Given the description of an element on the screen output the (x, y) to click on. 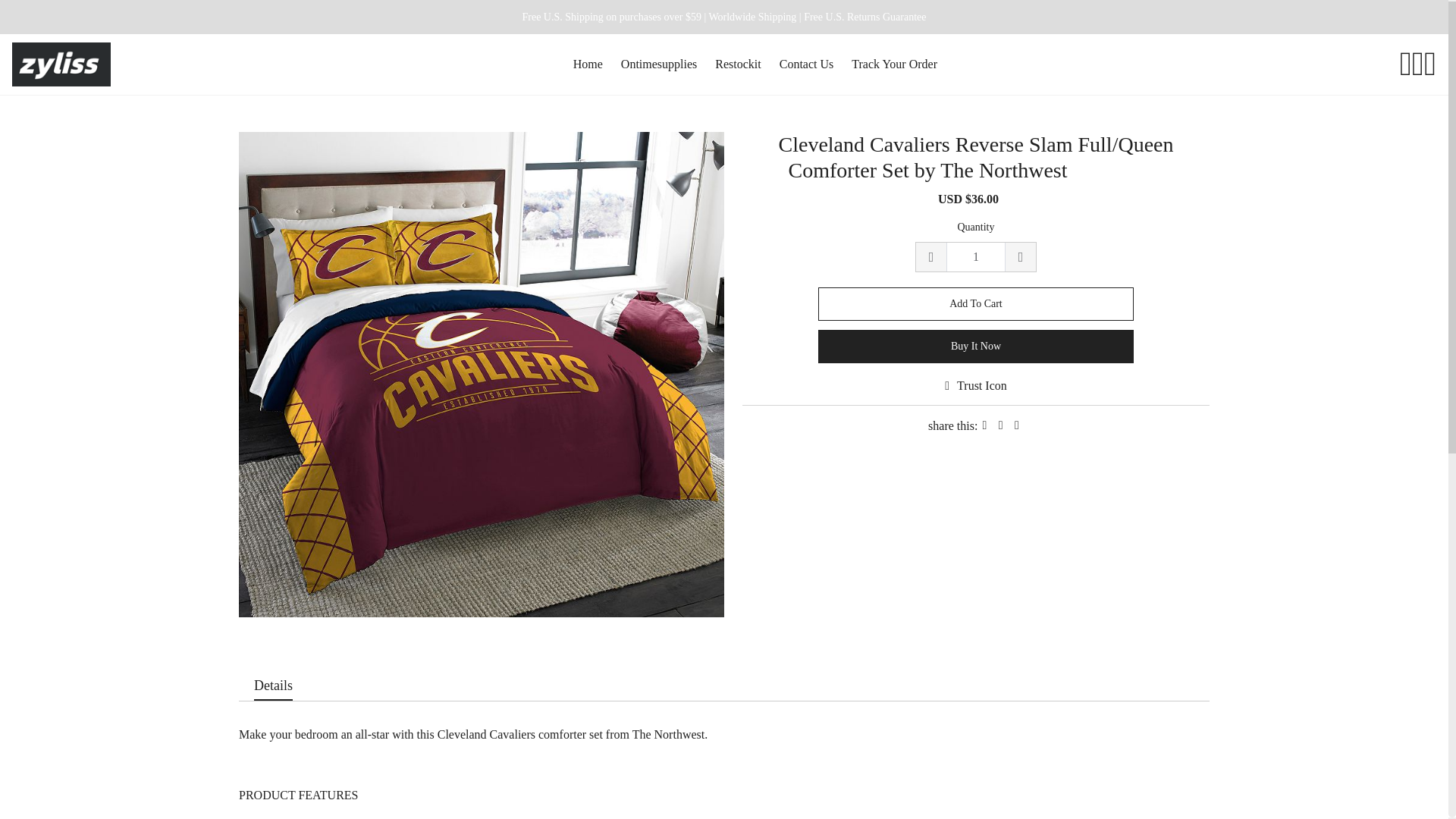
Restockit (737, 63)
Buy It Now (976, 346)
Track Your Order (894, 63)
Ontimesupplies (659, 63)
Contact Us (806, 63)
Home (587, 63)
1 (975, 256)
Add To Cart (976, 304)
